Given the description of an element on the screen output the (x, y) to click on. 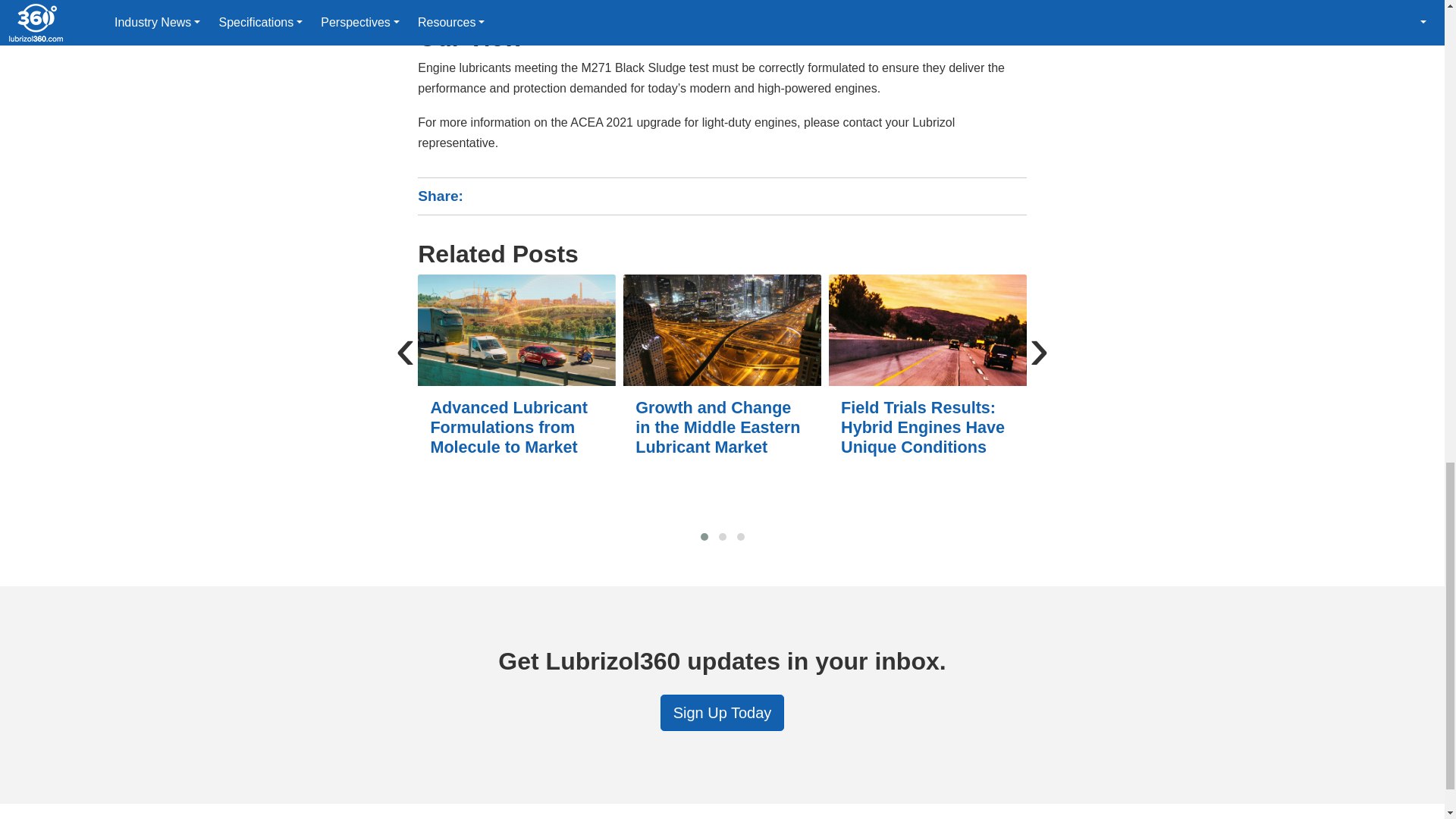
LATAM hybrid (927, 329)
Growth and Change in the Middle Eastern Lubricant Market (722, 329)
Advanced Lubricant Formulations from Molecule to Market (516, 329)
